Given the description of an element on the screen output the (x, y) to click on. 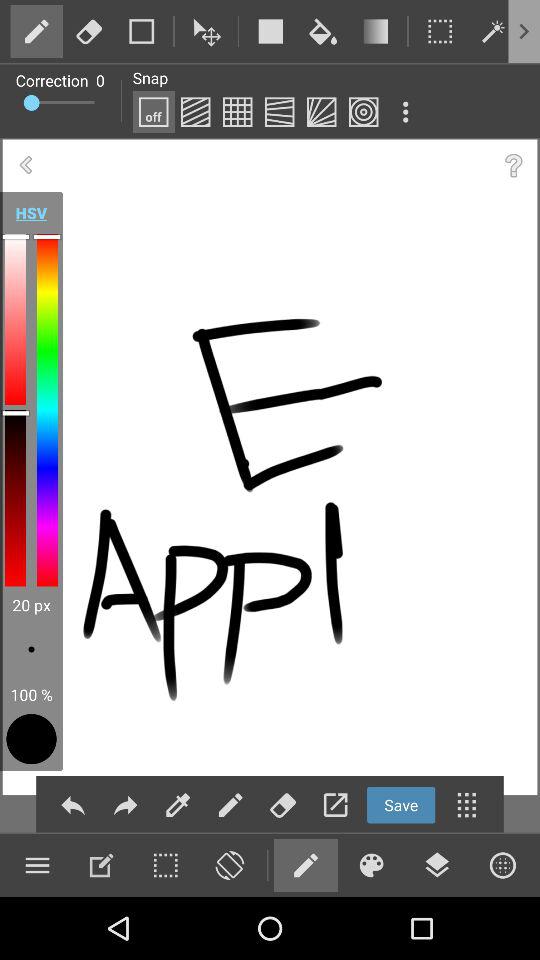
sittings (101, 865)
